Given the description of an element on the screen output the (x, y) to click on. 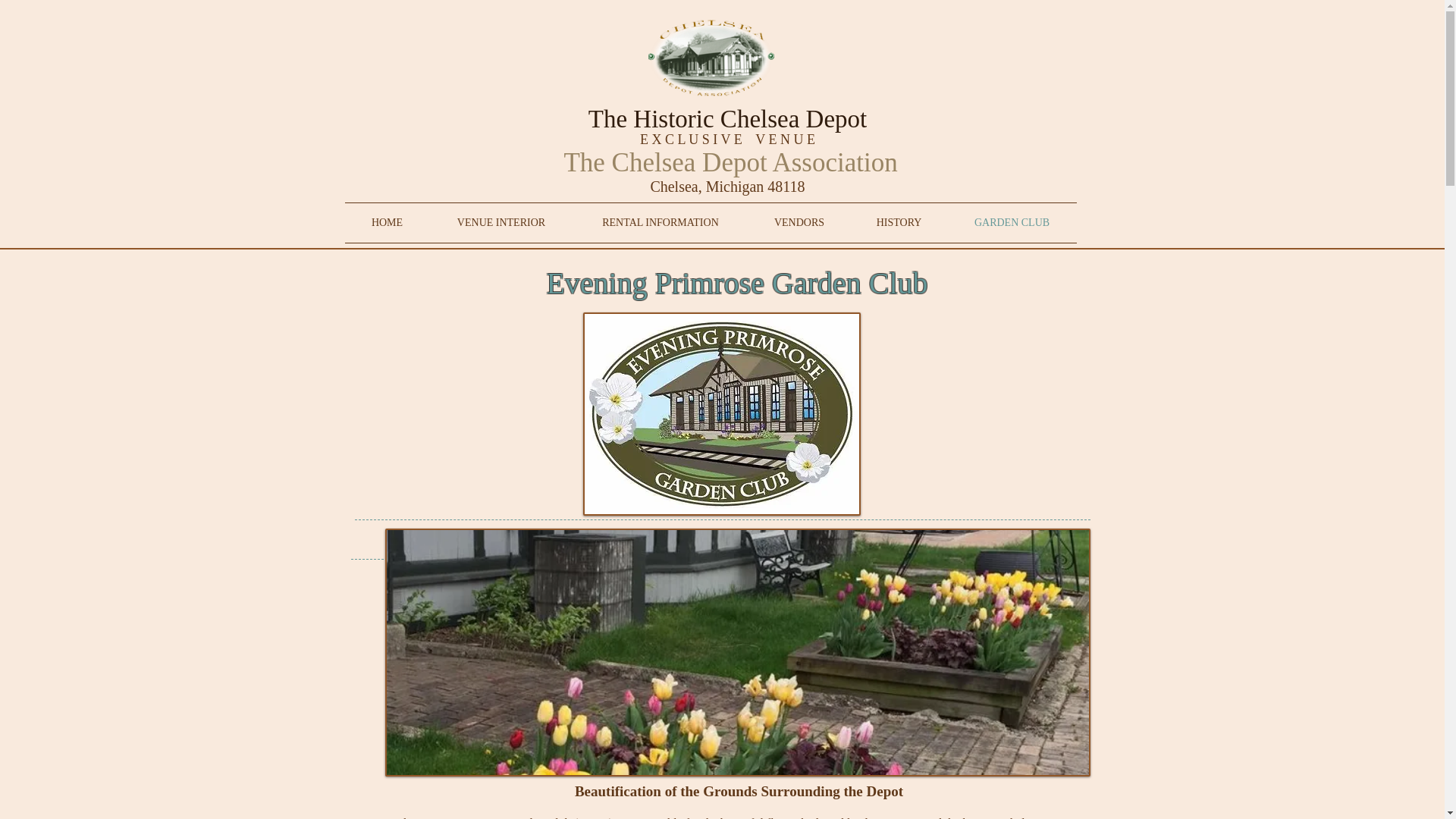
Chelsea, Michigan 48118 (727, 186)
HOME (386, 222)
GARDEN CLUB (1012, 222)
 The Chelsea Depot Association (726, 162)
VENUE INTERIOR (500, 222)
VENDORS (799, 222)
HISTORY (898, 222)
The Historic Chelsea Depot (727, 118)
RENTAL INFORMATION (660, 222)
E X C L U S I V E    V E N U E (727, 139)
